Given the description of an element on the screen output the (x, y) to click on. 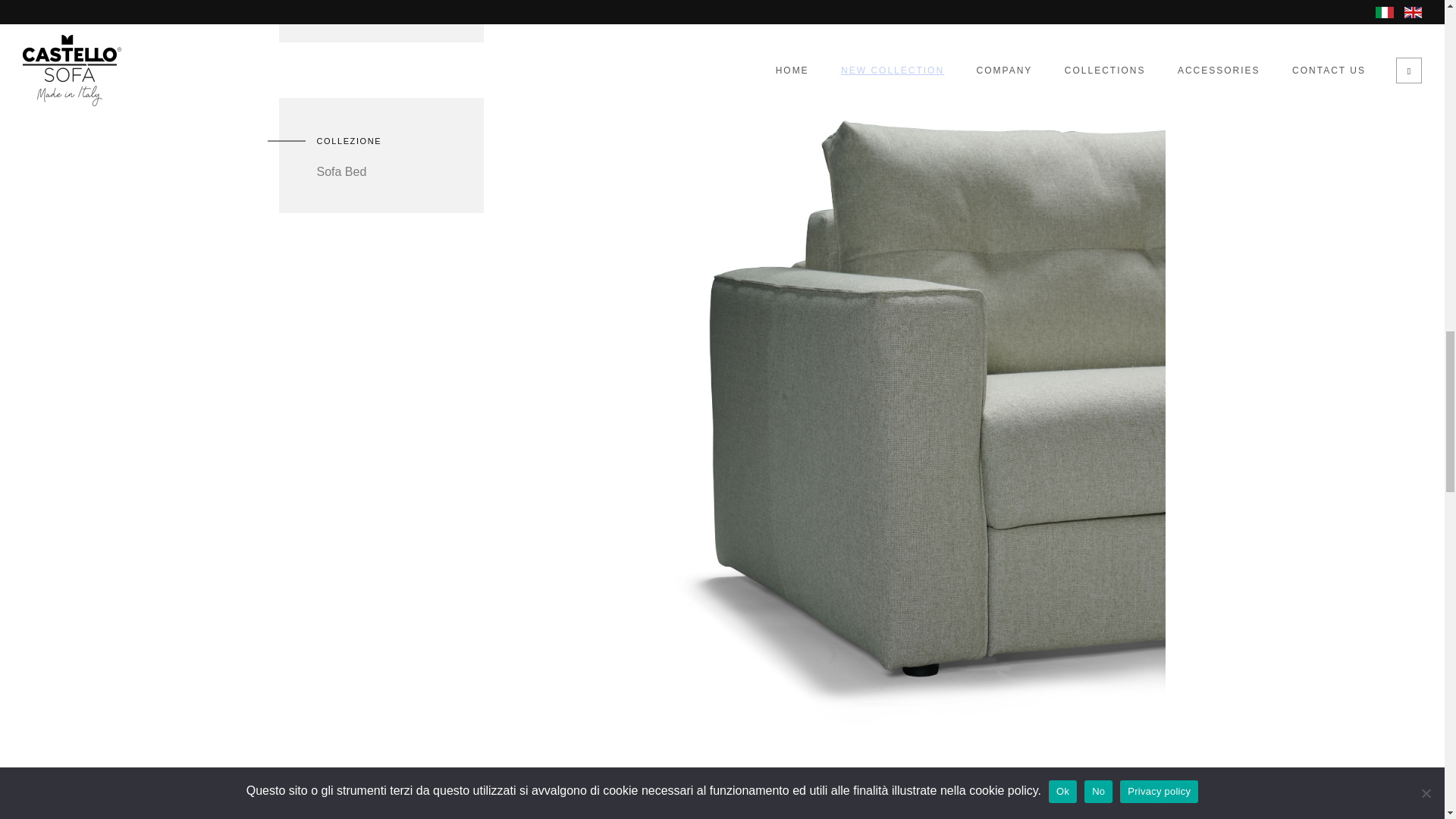
Download (394, 6)
